Given the description of an element on the screen output the (x, y) to click on. 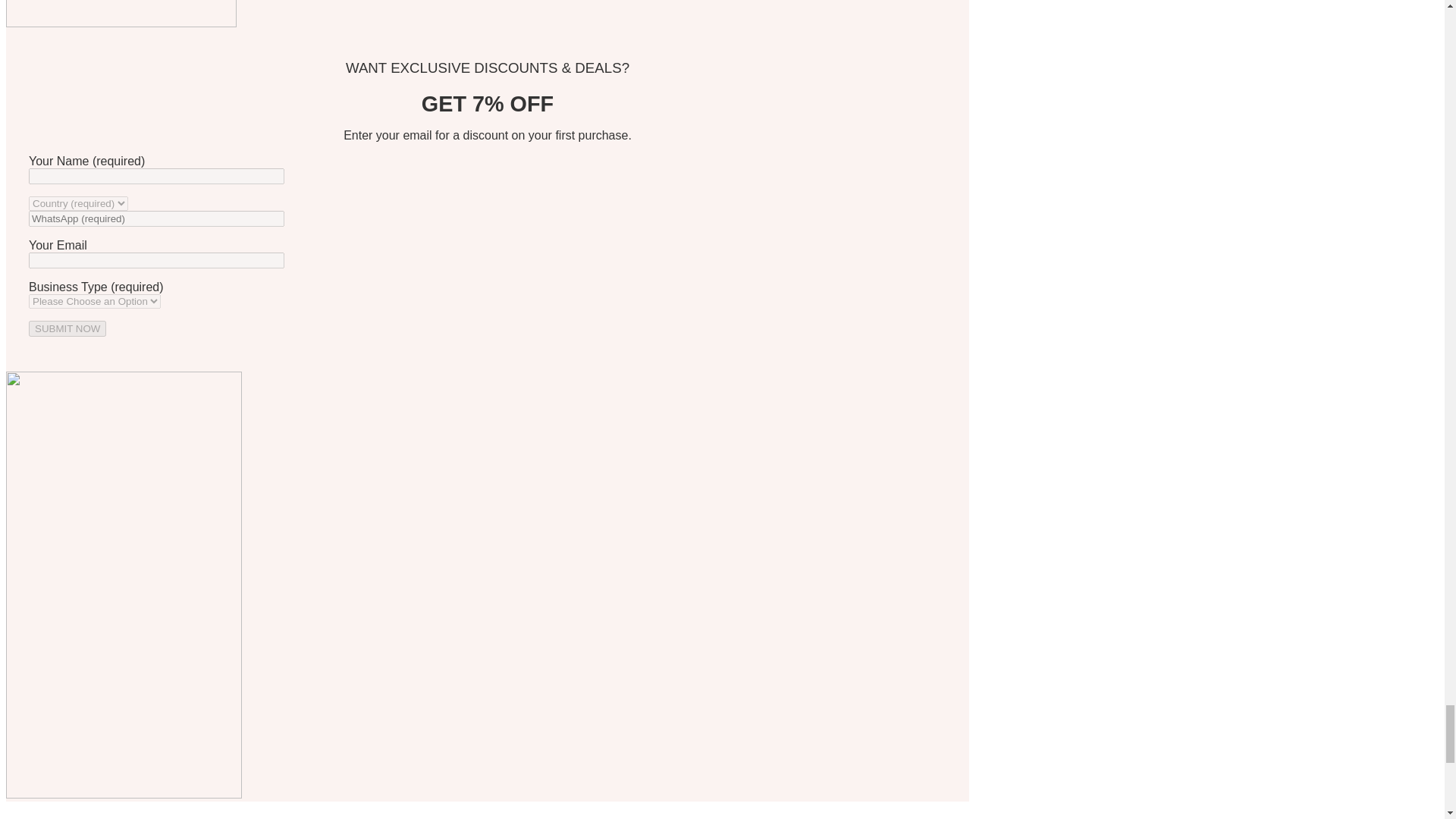
SUBMIT NOW (67, 328)
